Given the description of an element on the screen output the (x, y) to click on. 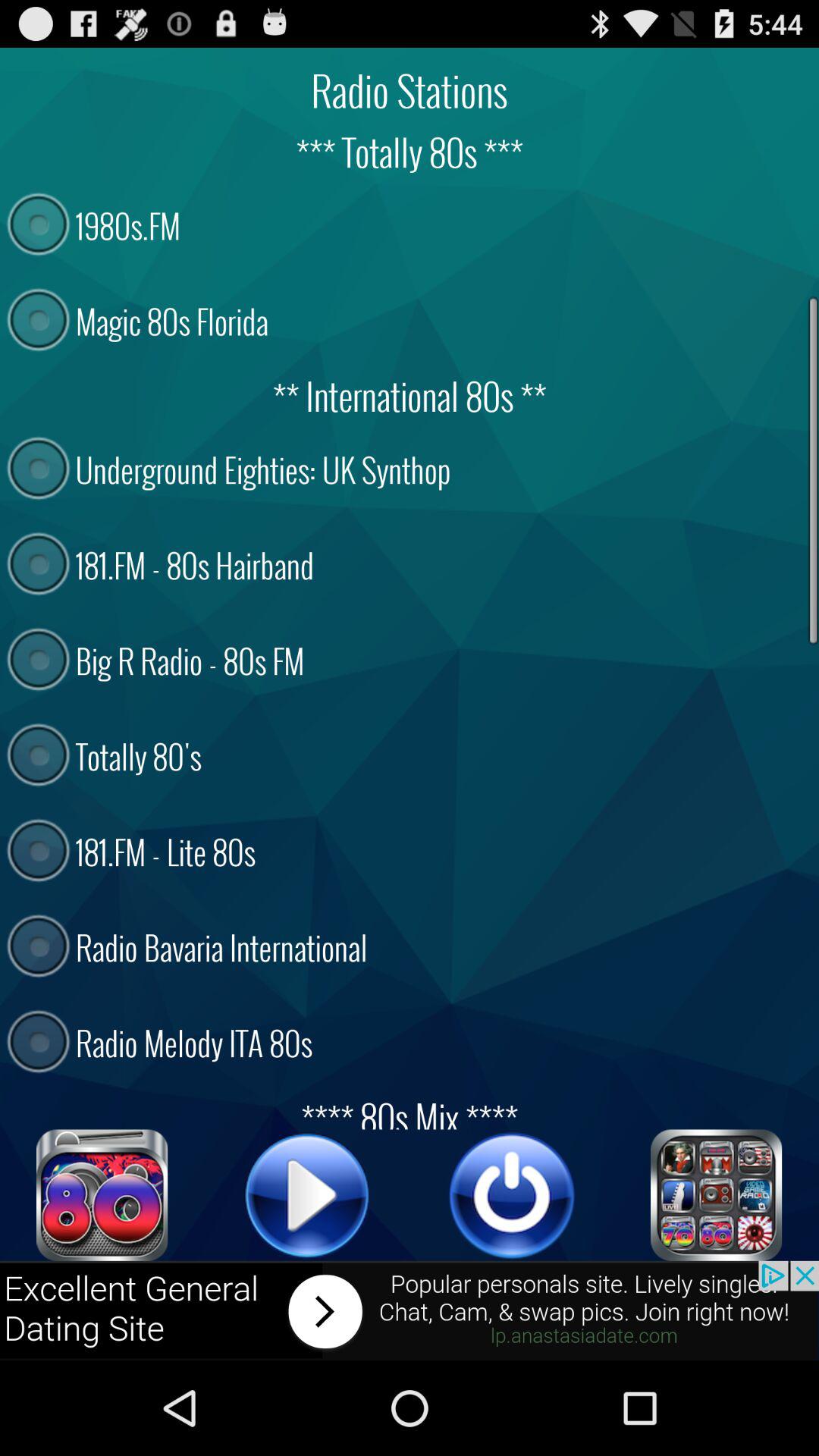
go to advertisement (409, 1310)
